Given the description of an element on the screen output the (x, y) to click on. 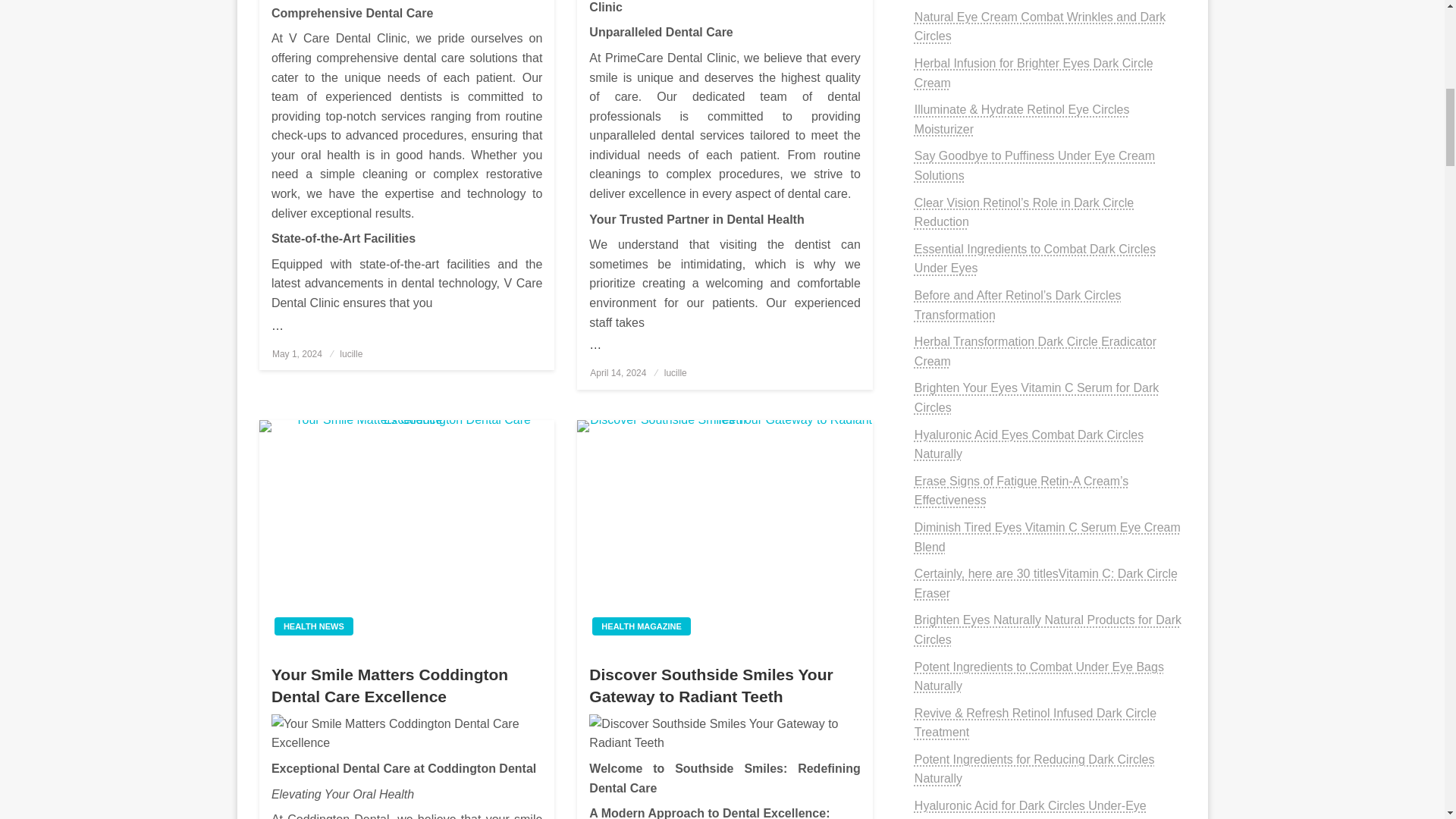
Discover Southside Smiles Your Gateway to Radiant Teeth (724, 733)
Your Smile Matters Coddington Dental Care Excellence (405, 733)
Discover Southside Smiles Your Gateway to Radiant Teeth (724, 533)
lucille (675, 372)
Your Smile Matters Coddington Dental Care Excellence (406, 533)
lucille (350, 353)
May 1, 2024 (296, 353)
lucille (350, 353)
